Given the description of an element on the screen output the (x, y) to click on. 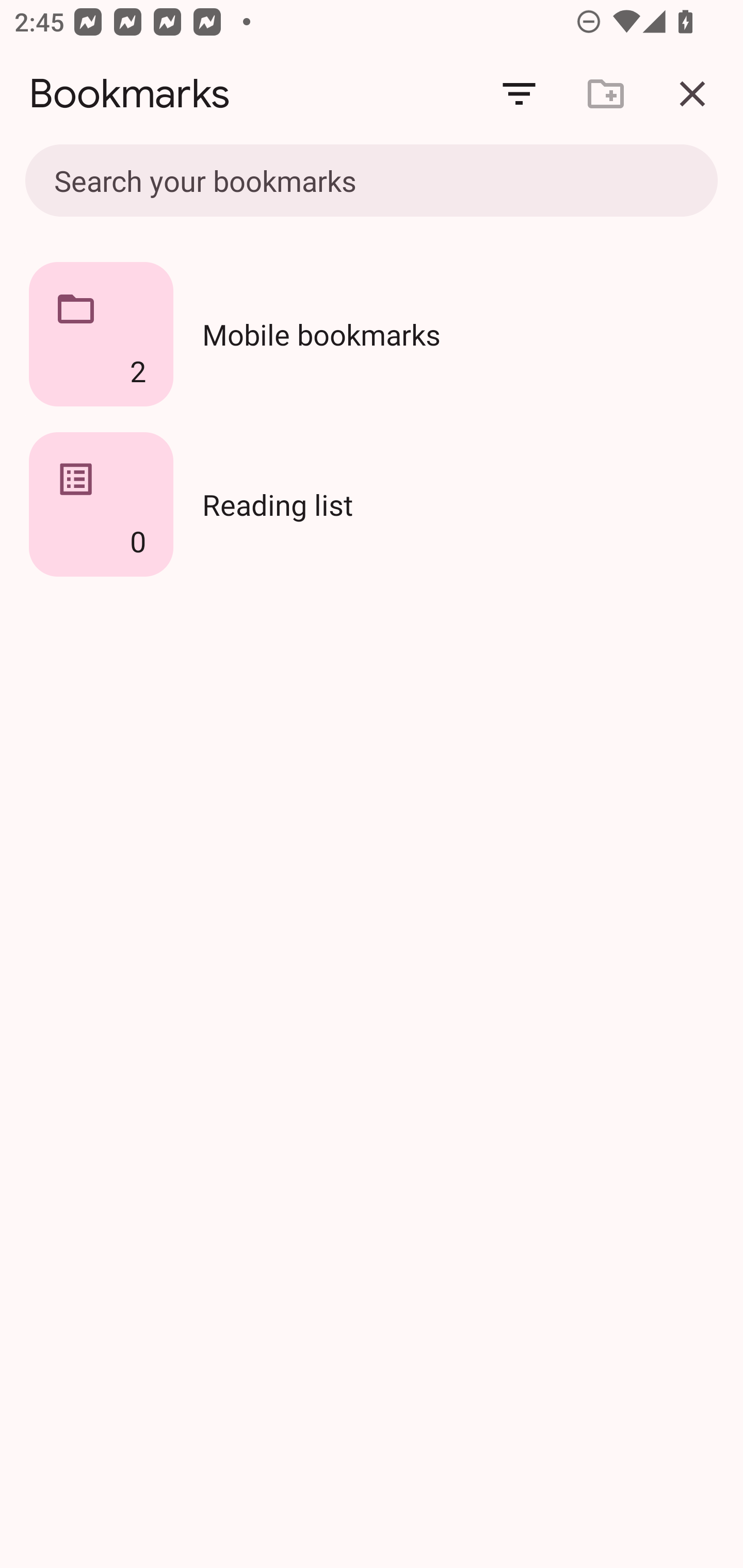
Sort and view options (518, 93)
Create new folder (605, 93)
Close dialog (692, 93)
Search your bookmarks (327, 180)
Mobile bookmarks 2 bookmarks 2 Mobile bookmarks (371, 333)
Reading list No unread pages 0 Reading list (371, 503)
